Given the description of an element on the screen output the (x, y) to click on. 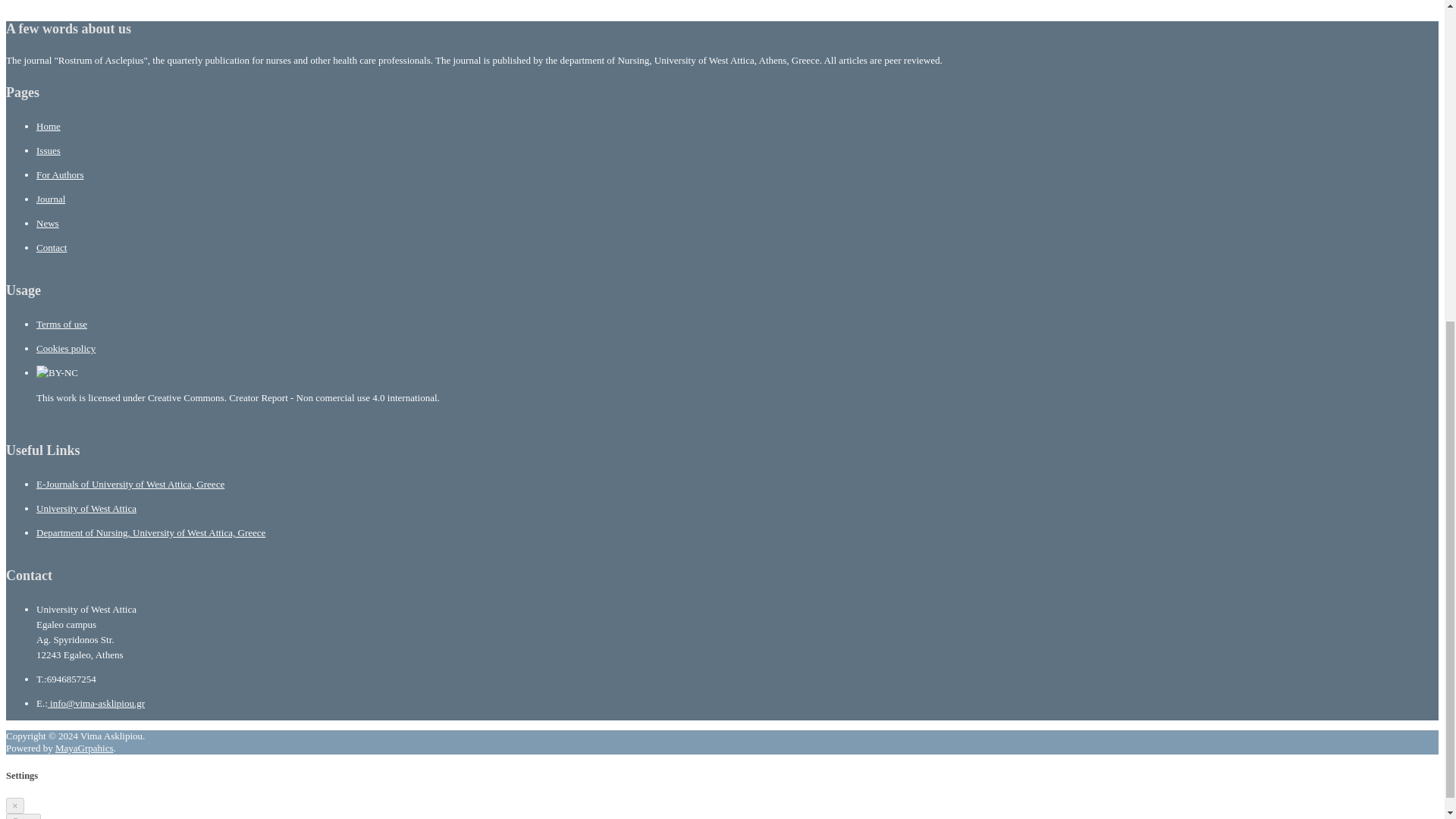
Issues (48, 150)
For Authors (59, 174)
News (47, 223)
Journal (50, 198)
Home (48, 125)
